Given the description of an element on the screen output the (x, y) to click on. 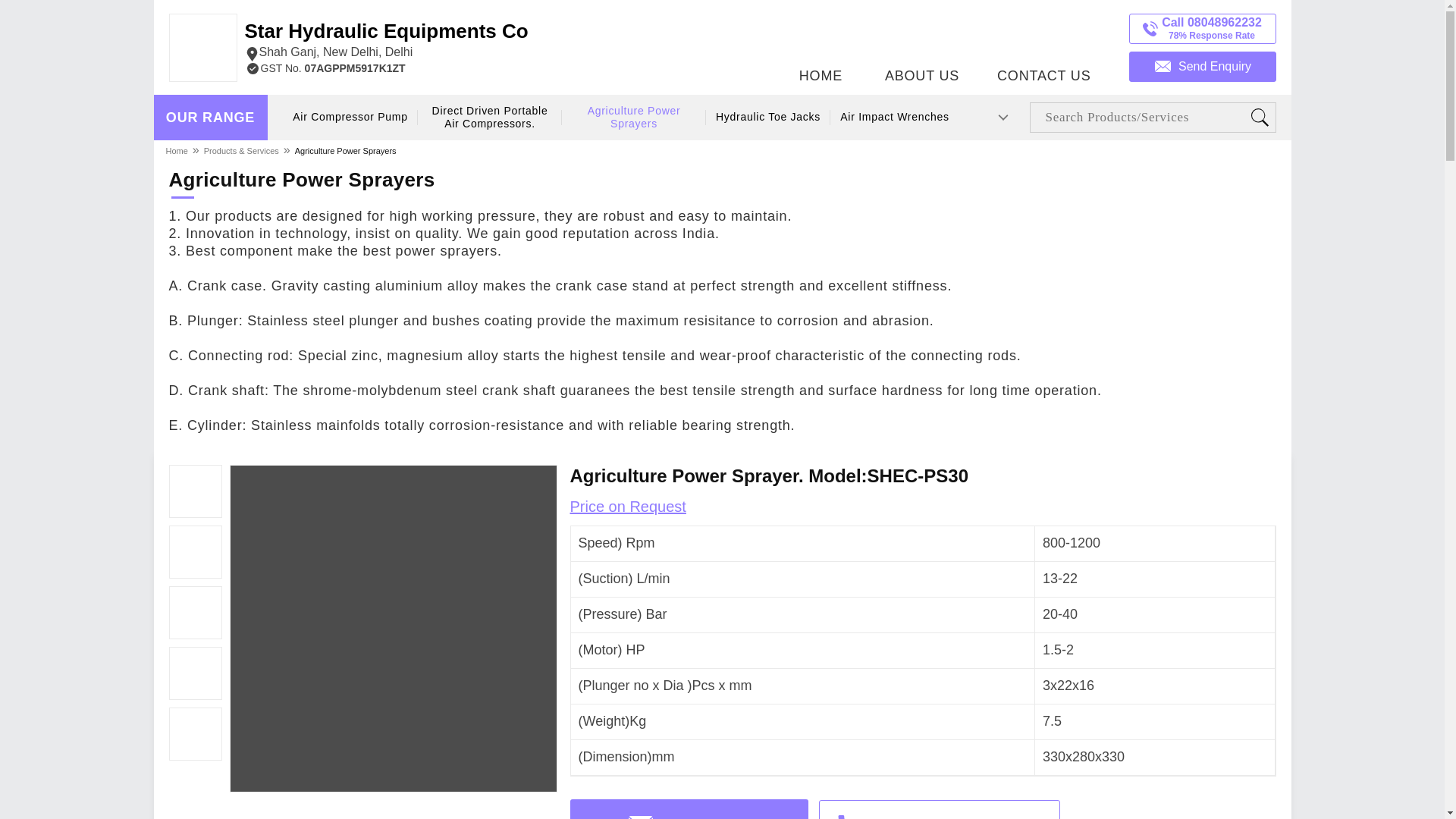
Air Compressor Pump (350, 117)
Agriculture Power Sprayers (385, 41)
Direct Driven Portable Air Compressors. (345, 150)
Air Impact Wrenches (490, 117)
CONTACT US (895, 117)
Agriculture Power Sprayers (1043, 43)
Hydraulic Toe Jacks (634, 117)
OUR RANGE (767, 117)
ABOUT US (209, 117)
